Given the description of an element on the screen output the (x, y) to click on. 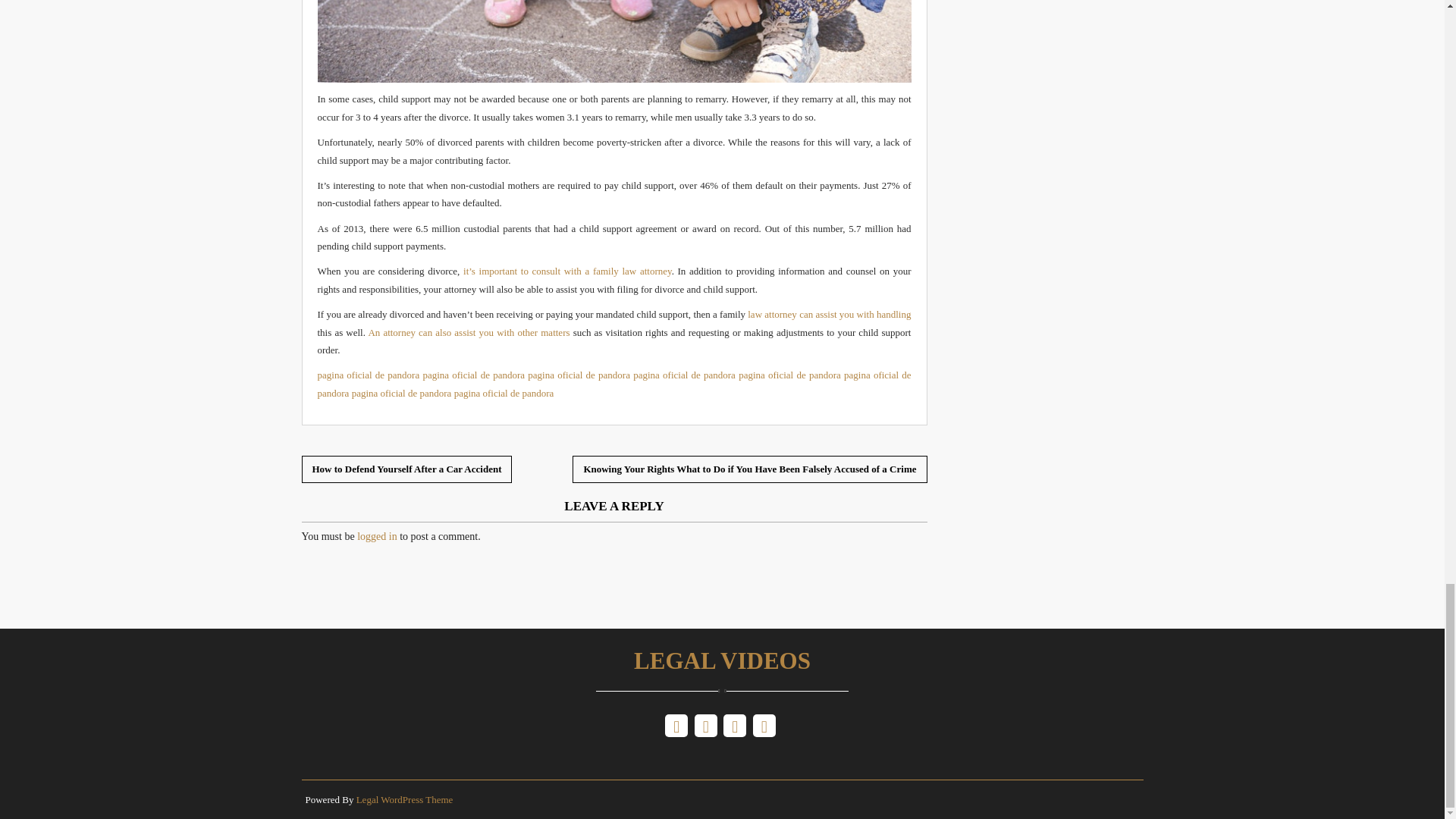
law attorney can assist you with handling (829, 314)
How to Defend Yourself After a Car Accident (406, 469)
An attorney can also assist you with other matters (468, 332)
Lawyer (829, 314)
pagina oficial de pandora (578, 374)
pagina oficial de pandora (473, 374)
pagina oficial de pandora (614, 383)
pagina oficial de pandora (789, 374)
pagina oficial de pandora (368, 374)
Legal WordPress Theme (404, 799)
Cool things (468, 332)
pagina oficial de pandora (401, 392)
pagina oficial de pandora (504, 392)
LEGAL VIDEOS (721, 667)
